Given the description of an element on the screen output the (x, y) to click on. 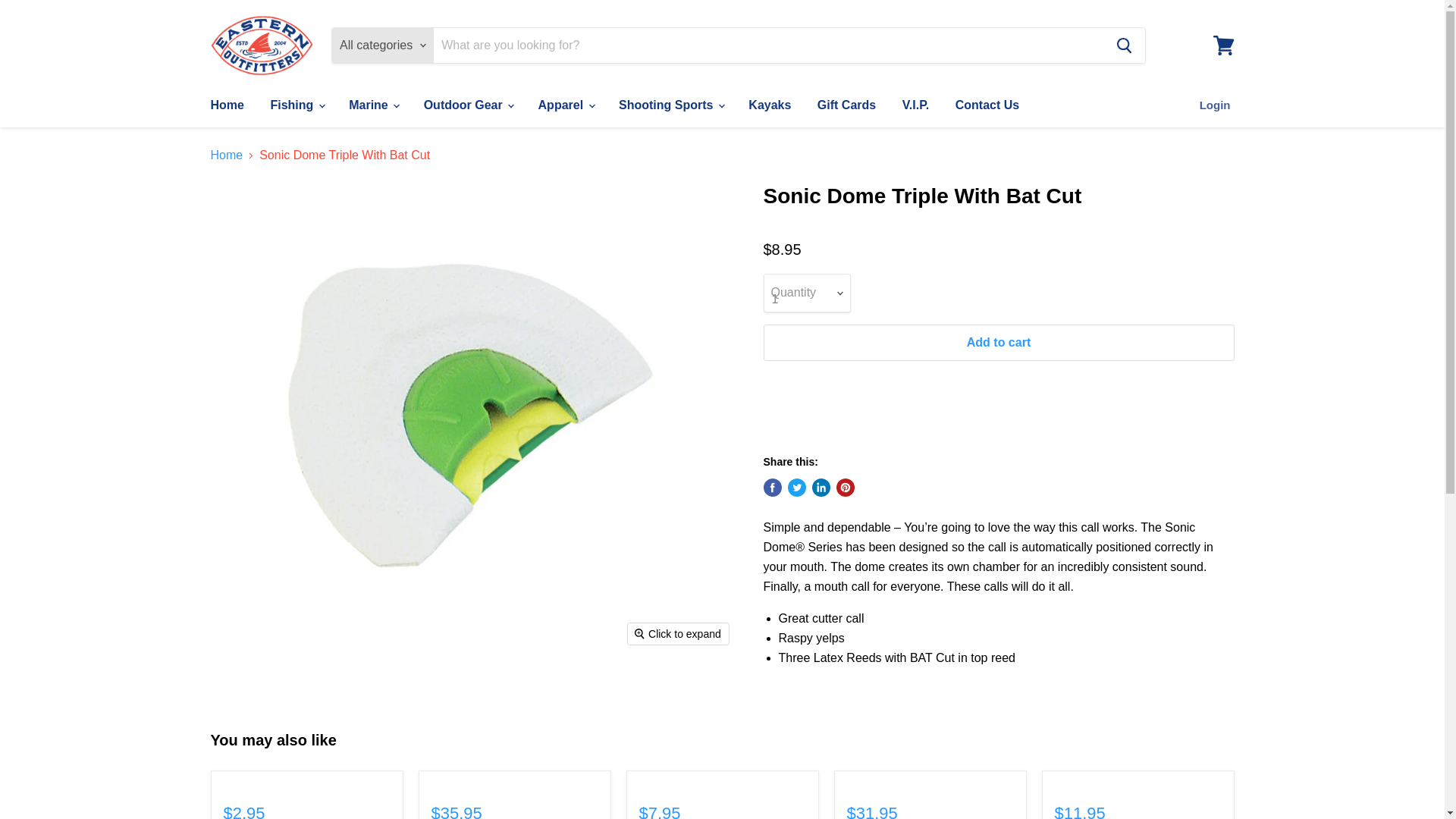
Shooting Sports (670, 105)
Marine (373, 105)
View cart (1223, 45)
Outdoor Gear (467, 105)
Kayaks (769, 105)
Fishing (296, 105)
Apparel (565, 105)
Home (226, 105)
